Given the description of an element on the screen output the (x, y) to click on. 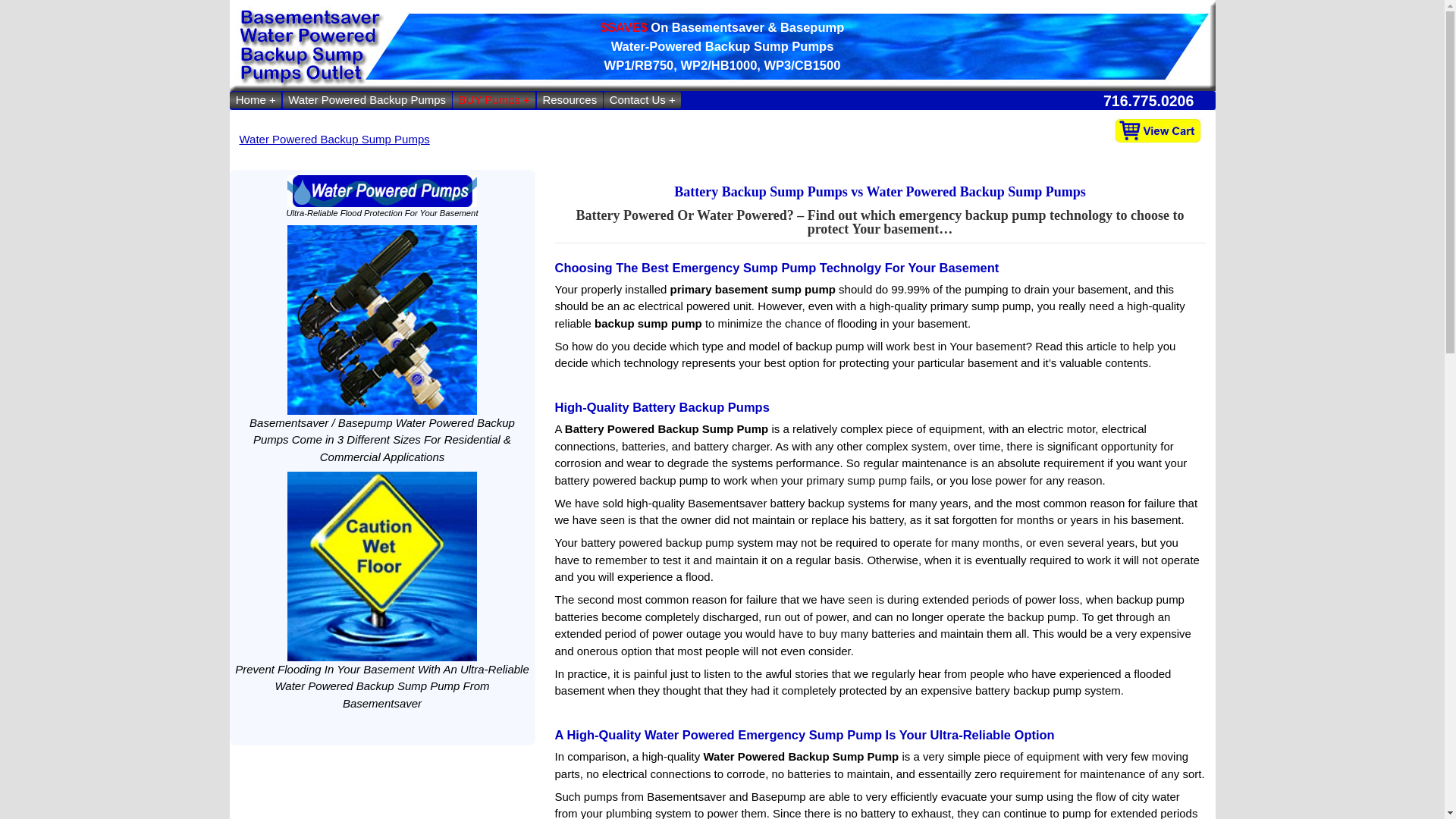
Wet Floor Sign (381, 565)
Resources (569, 99)
Basementsaver Water Powered Backup Sump Pumps (381, 319)
Water Powered Backup Sump Pumps (334, 138)
View Your PayPal Cart (1157, 130)
Water Powered Backup Sump Pumps (381, 190)
716.775.0206 (1154, 100)
Water Powered Backup Pumps (366, 99)
